Given the description of an element on the screen output the (x, y) to click on. 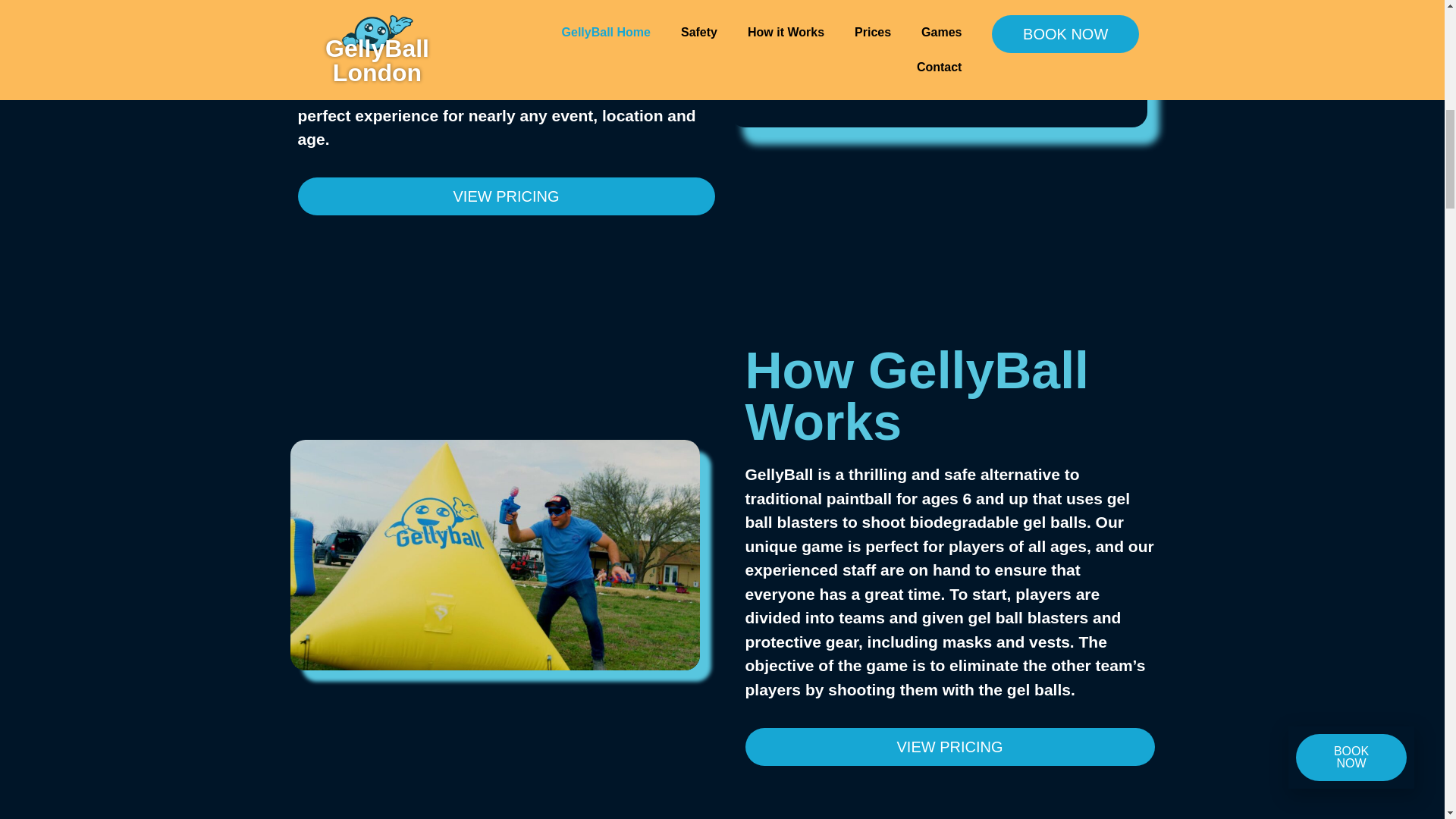
VIEW PRICING (949, 746)
VIEW PRICING (505, 196)
